Given the description of an element on the screen output the (x, y) to click on. 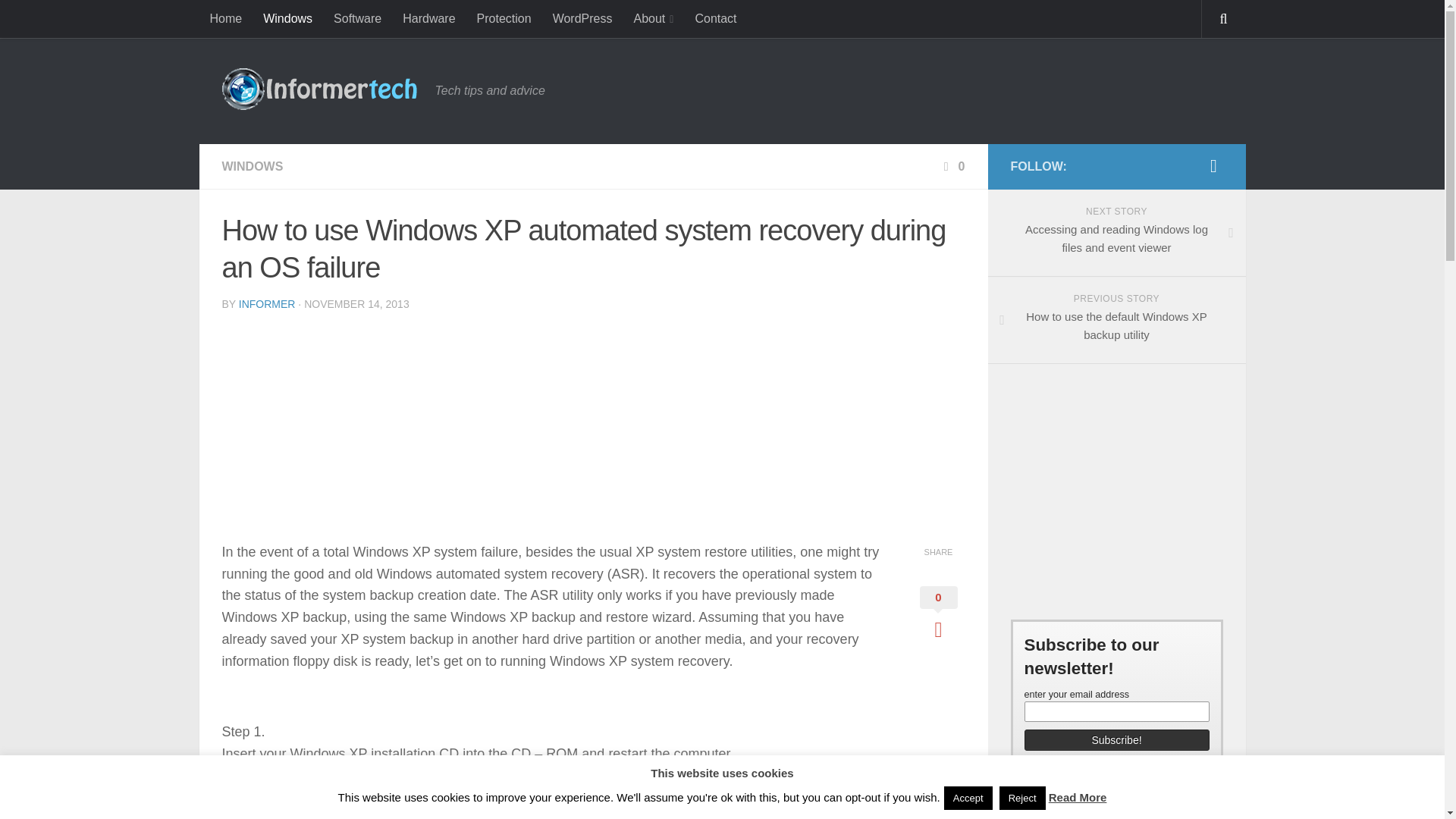
About (653, 18)
WordPress (582, 18)
Protection (503, 18)
0 (937, 614)
Home (224, 18)
WINDOWS (251, 165)
Advertisement (348, 429)
About (653, 18)
Hardware (428, 18)
INFORMER (266, 304)
Software (357, 18)
Windows (287, 18)
0 (952, 165)
Posts by Informer (266, 304)
